Given the description of an element on the screen output the (x, y) to click on. 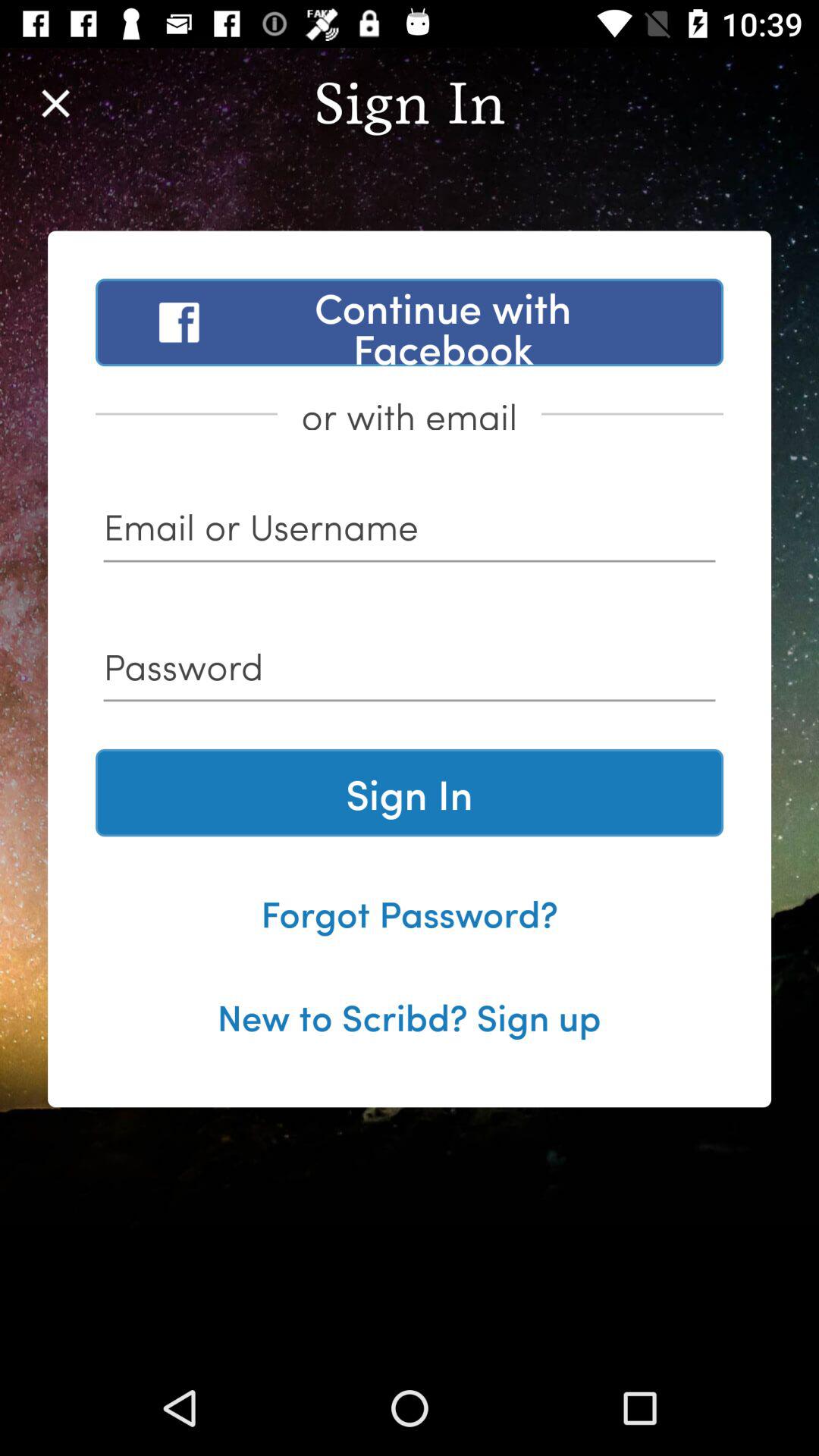
flip until forgot password? icon (409, 912)
